Given the description of an element on the screen output the (x, y) to click on. 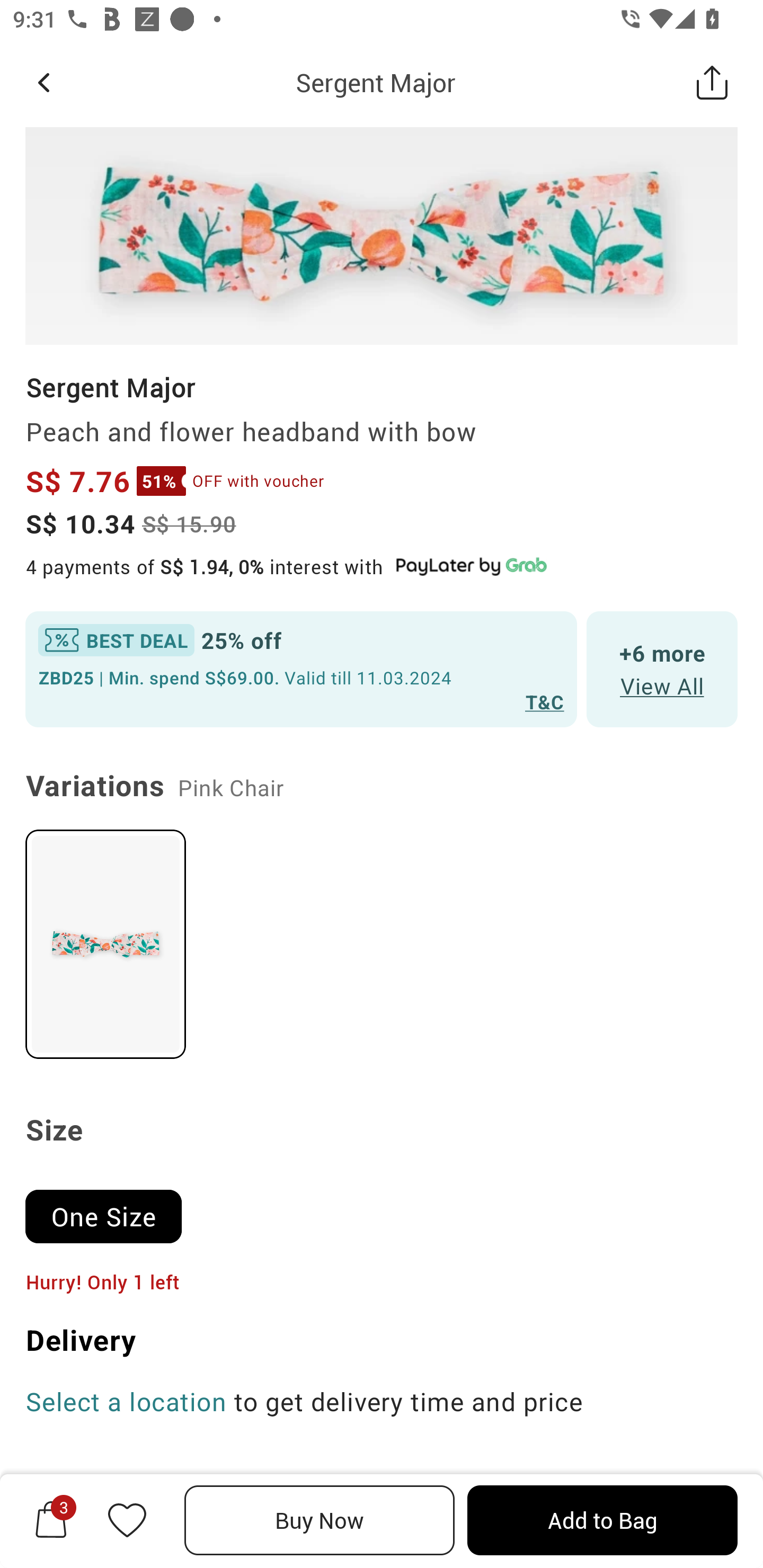
Sergent Major (375, 82)
Share this Product (711, 82)
Sergent Major (110, 387)
+6 more
View All (661, 669)
T&C (544, 701)
One Size (111, 1207)
Buy Now (319, 1519)
Add to Bag (601, 1519)
3 (50, 1520)
